Given the description of an element on the screen output the (x, y) to click on. 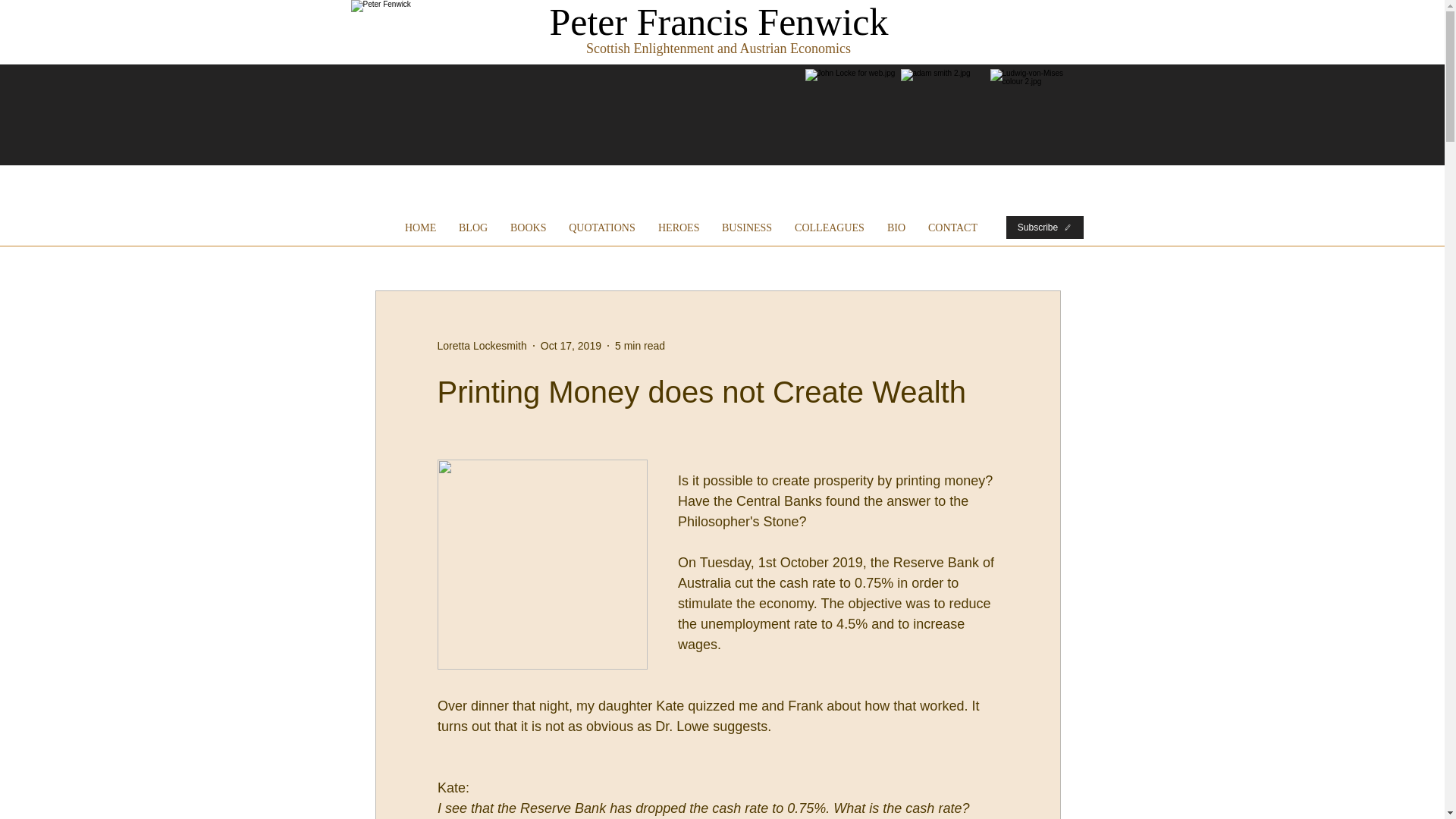
Oct 17, 2019 (570, 345)
Peter Francis Fenwick (718, 21)
Loretta Lockesmith (480, 345)
5 min read (639, 345)
BLOG (472, 227)
HEROES (678, 227)
CONTACT (952, 227)
COLLEAGUES (829, 227)
Subscribe (1044, 227)
BOOKS (528, 227)
